Given the description of an element on the screen output the (x, y) to click on. 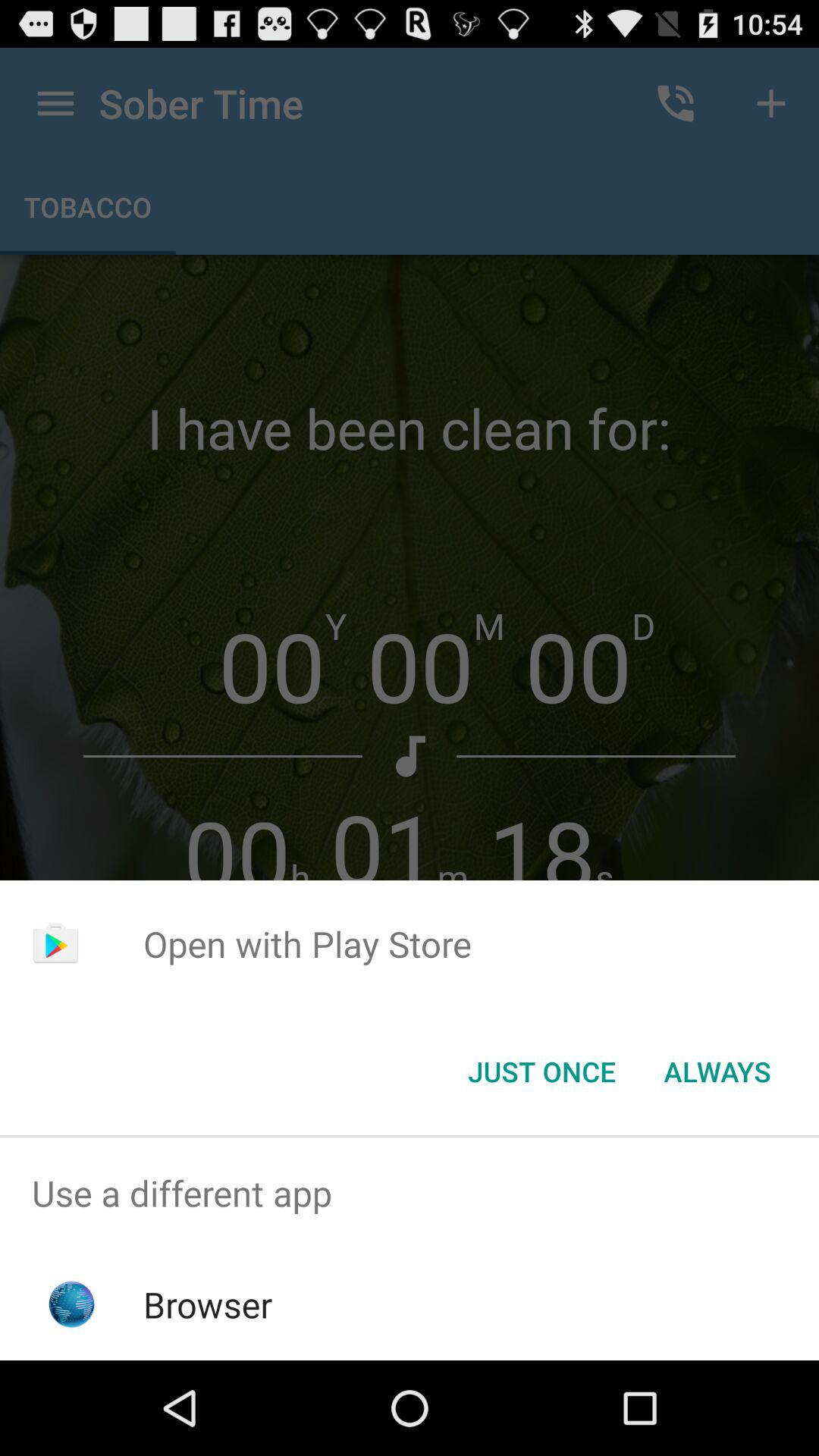
jump until the browser app (207, 1304)
